Given the description of an element on the screen output the (x, y) to click on. 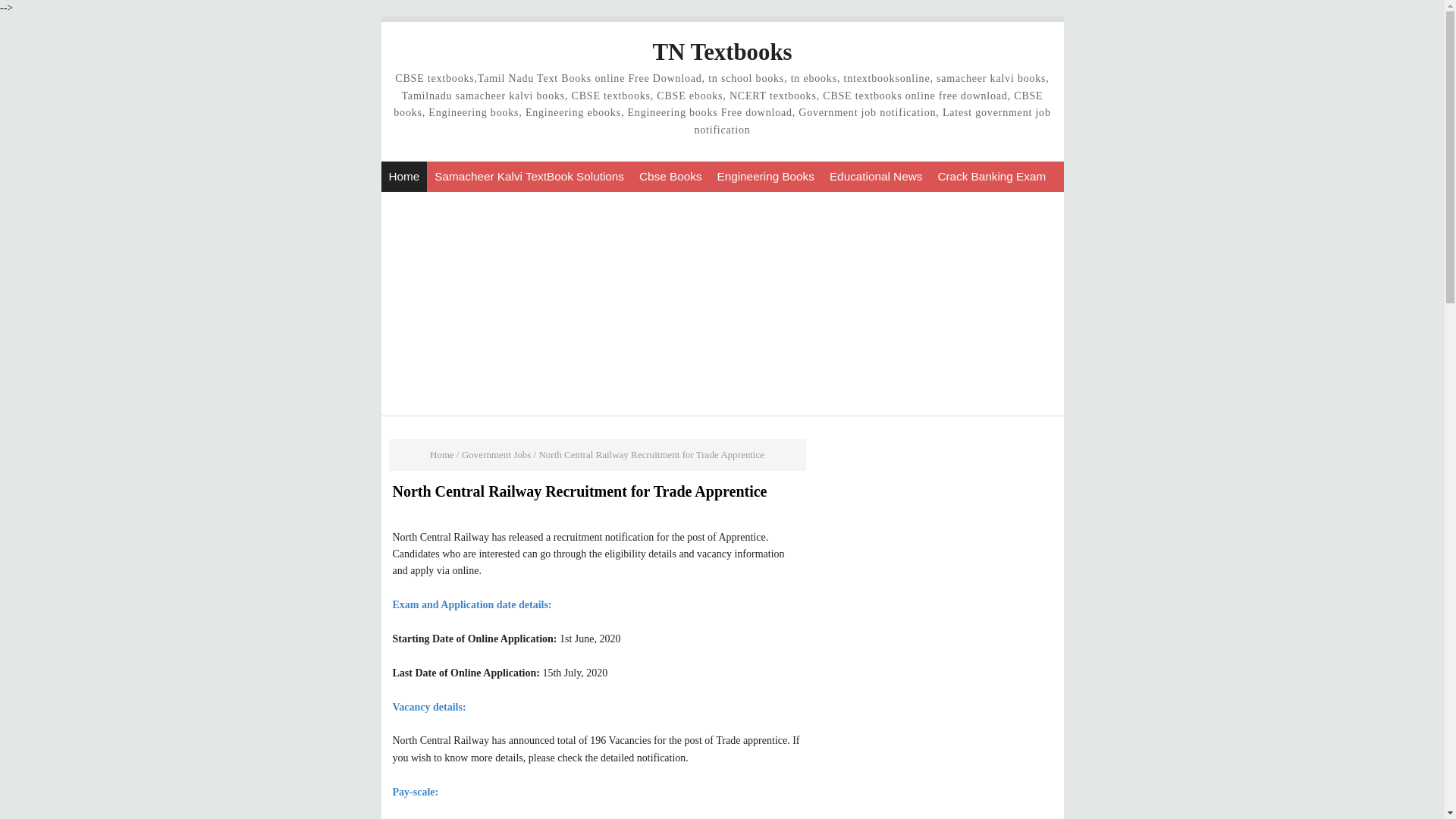
Menu5 (991, 176)
Home (403, 176)
Engineering Books (766, 176)
Home (441, 454)
Crack Banking Exam (991, 176)
Menu4 (876, 176)
Menu2 (670, 176)
Government Jobs (496, 454)
TN Textbooks (722, 52)
